Given the description of an element on the screen output the (x, y) to click on. 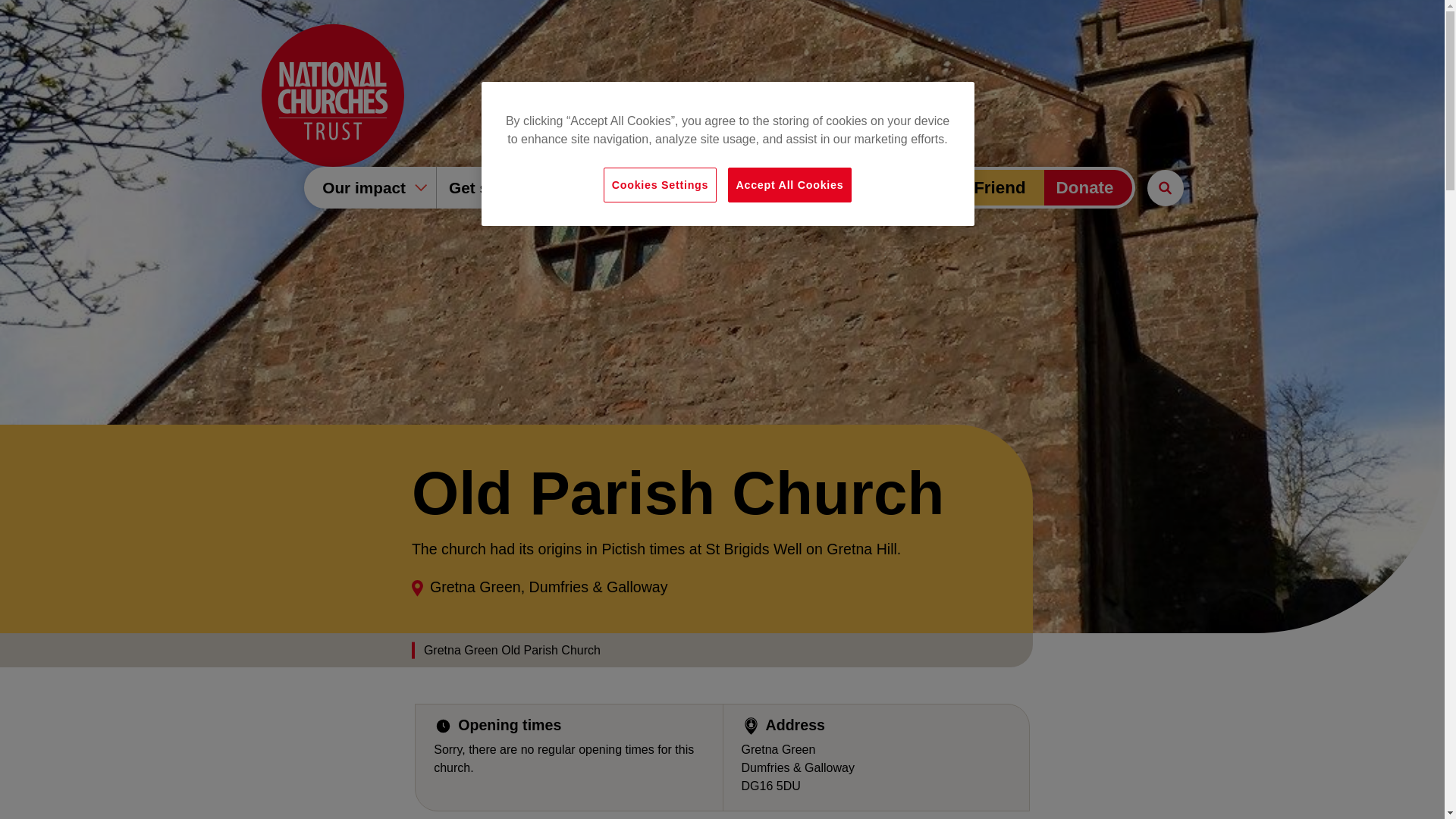
Get support (502, 187)
Our impact (369, 187)
Explore churches (656, 187)
National Churches Trust (331, 95)
